Given the description of an element on the screen output the (x, y) to click on. 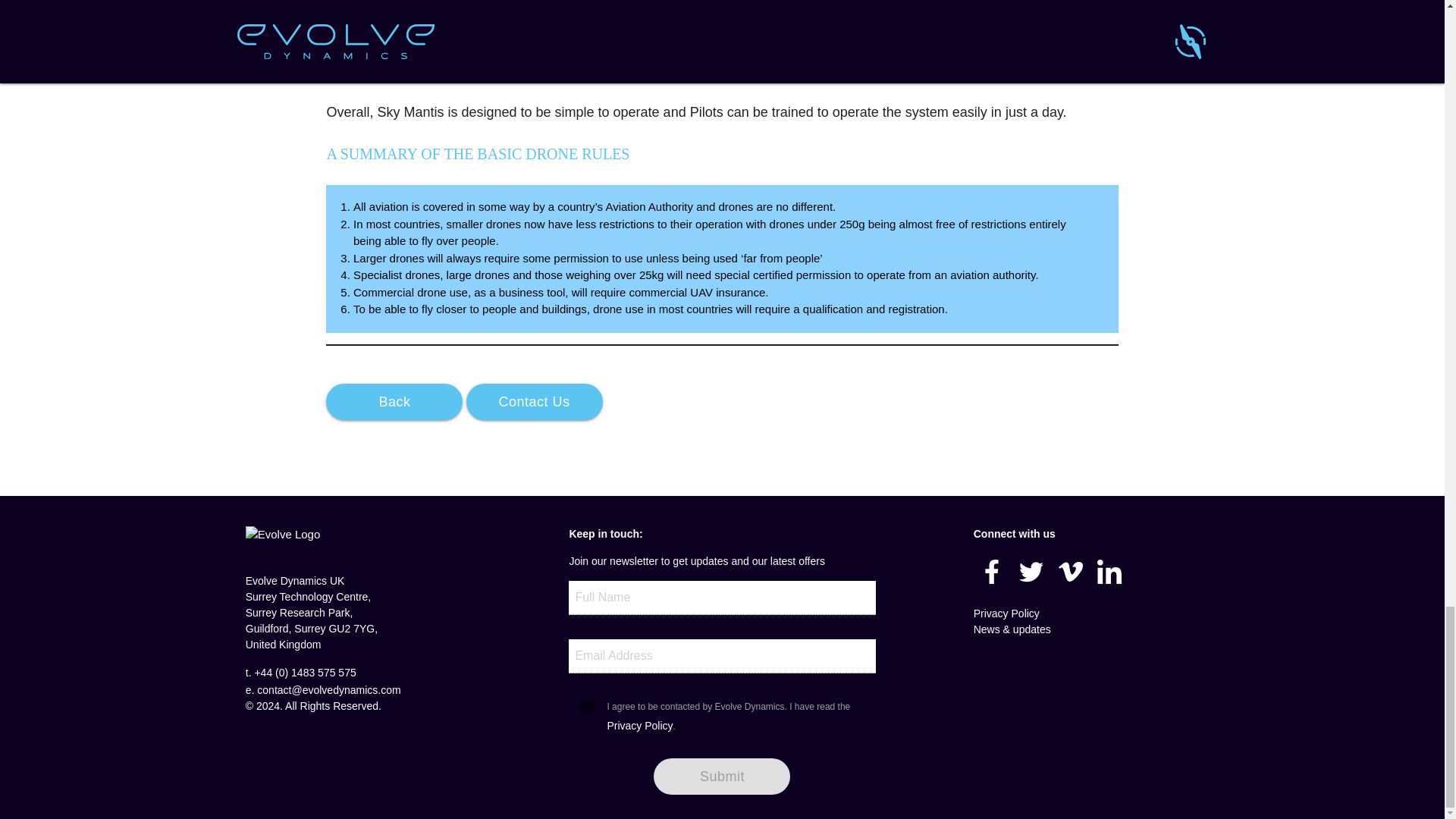
Privacy Policy (1006, 613)
Back (394, 402)
Contact Us (533, 402)
Submit (721, 776)
Privacy Policy (639, 725)
Submit (721, 776)
